Given the description of an element on the screen output the (x, y) to click on. 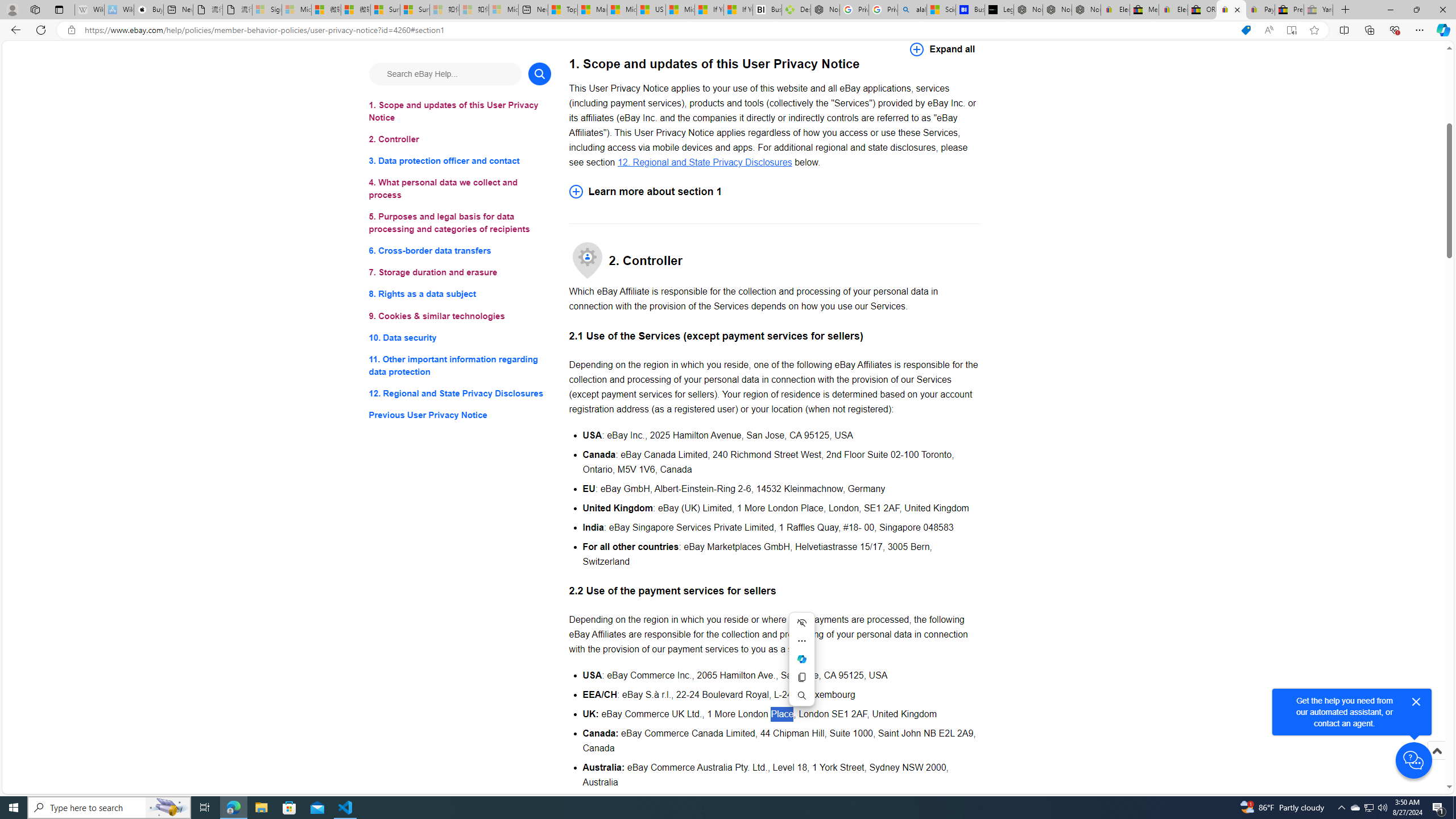
1. Scope and updates of this User Privacy Notice (459, 111)
Buy iPad - Apple (148, 9)
Search eBay Help... (444, 73)
11. Other important information regarding data protection (459, 365)
Payments Terms of Use | eBay.com (1259, 9)
Sign in to your Microsoft account - Sleeping (266, 9)
Electronics, Cars, Fashion, Collectibles & More | eBay (1173, 9)
